Given the description of an element on the screen output the (x, y) to click on. 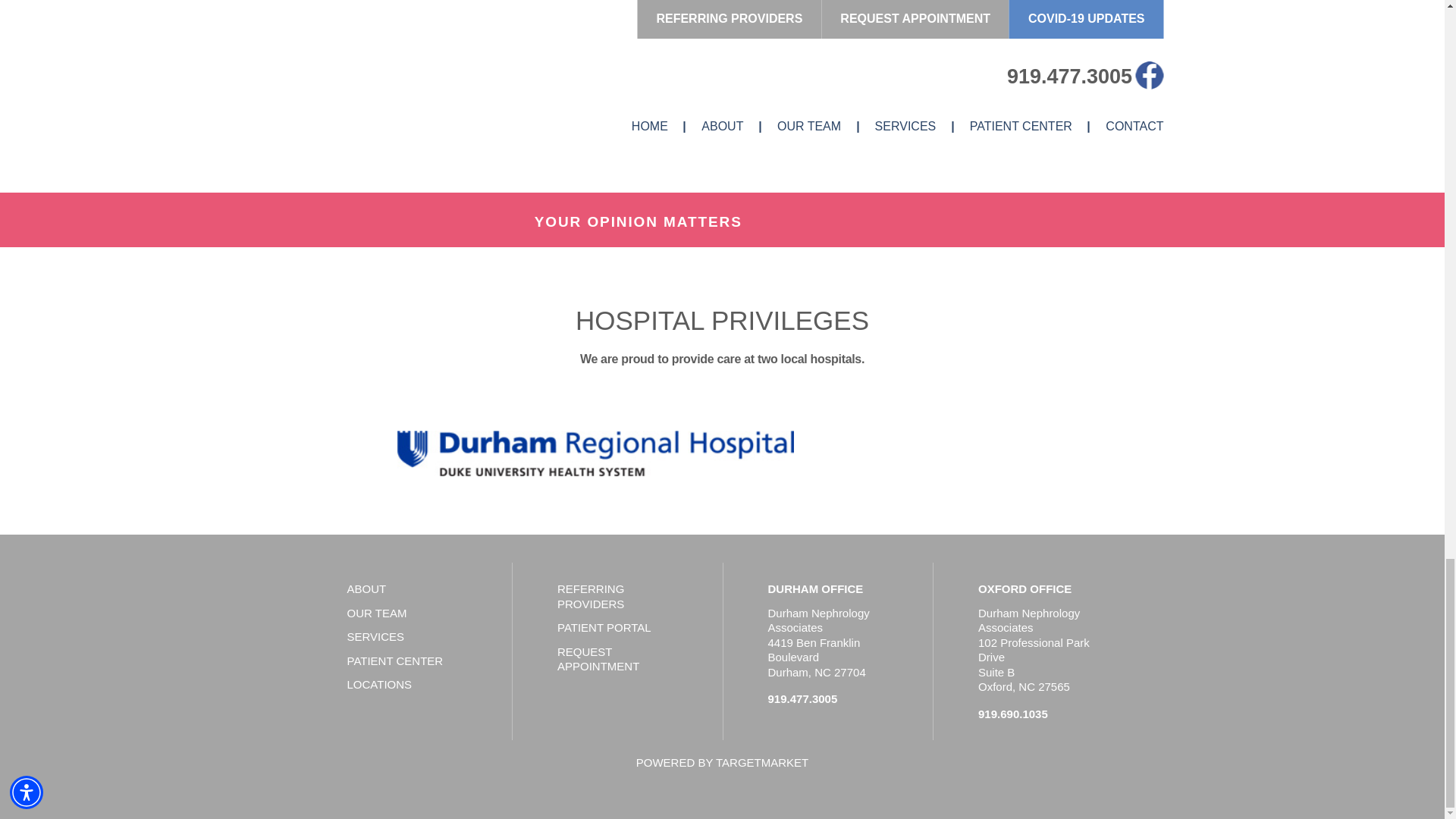
Granville Health System (940, 452)
